Given the description of an element on the screen output the (x, y) to click on. 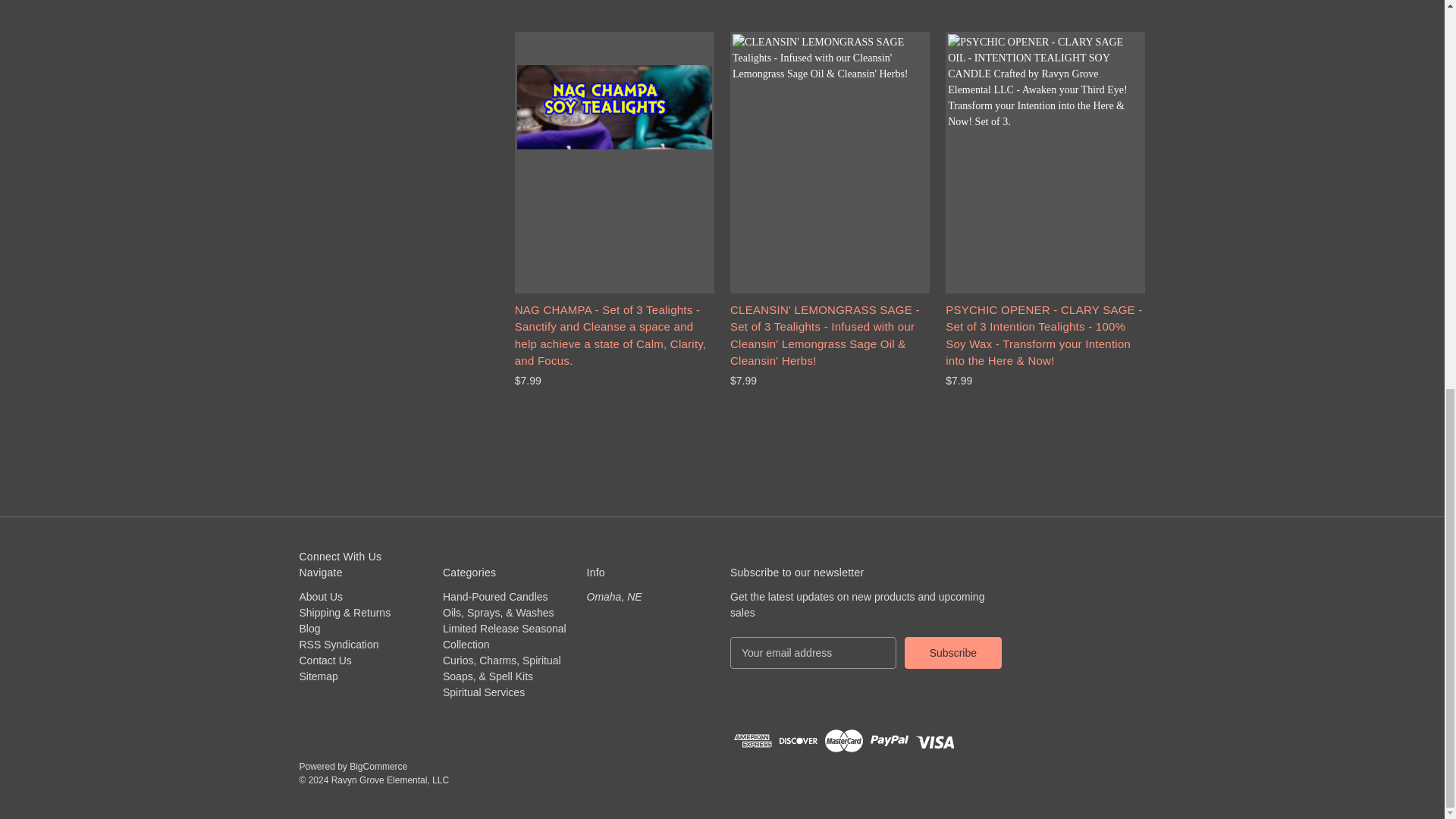
Visa (934, 740)
PayPal (889, 740)
Subscribe (952, 653)
Mastercard (844, 740)
Discover (797, 740)
American Express (752, 740)
